Given the description of an element on the screen output the (x, y) to click on. 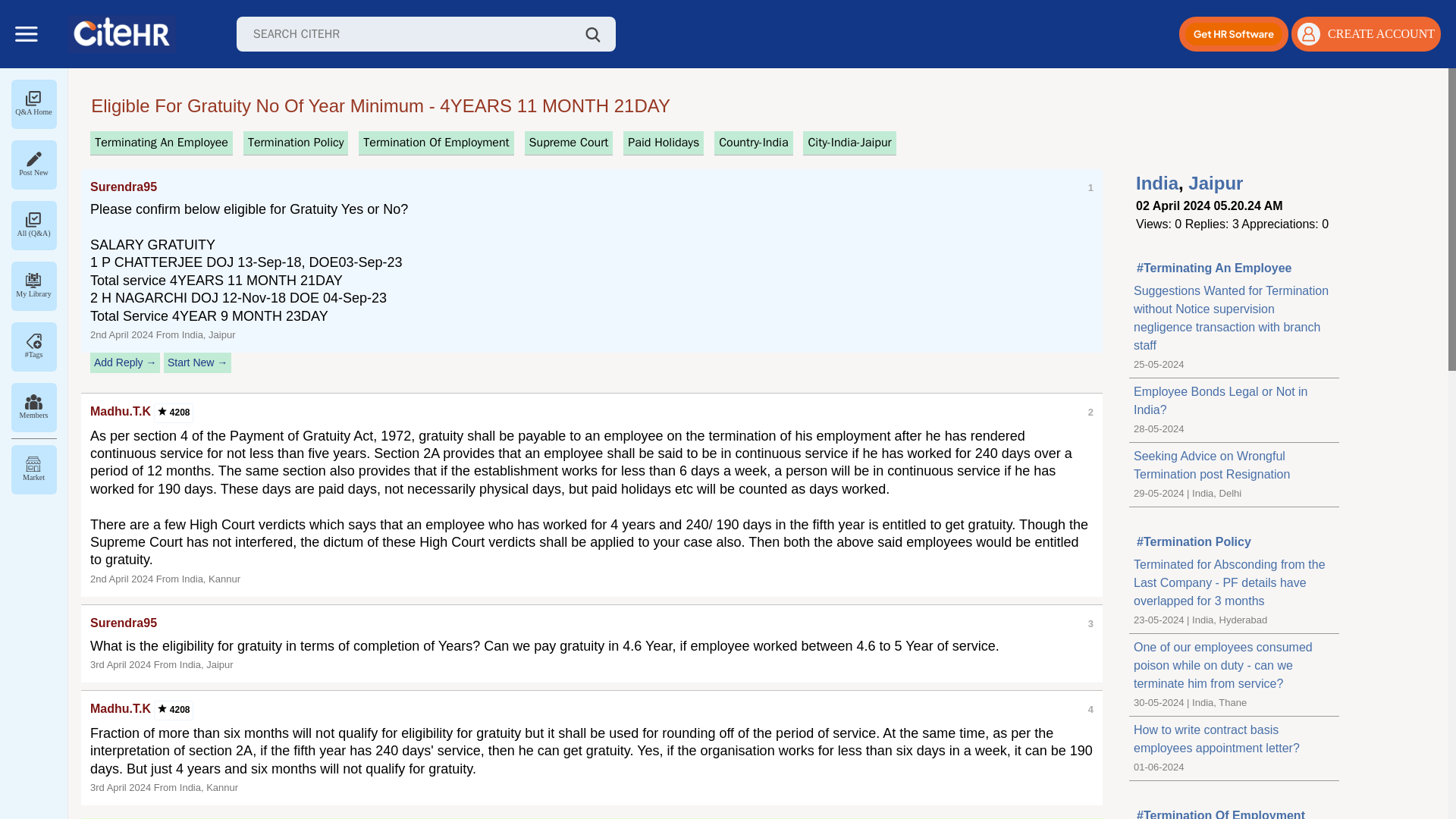
Post New (33, 164)
My Library (33, 285)
CREATE ACCOUNT (1366, 33)
Members (34, 406)
